Given the description of an element on the screen output the (x, y) to click on. 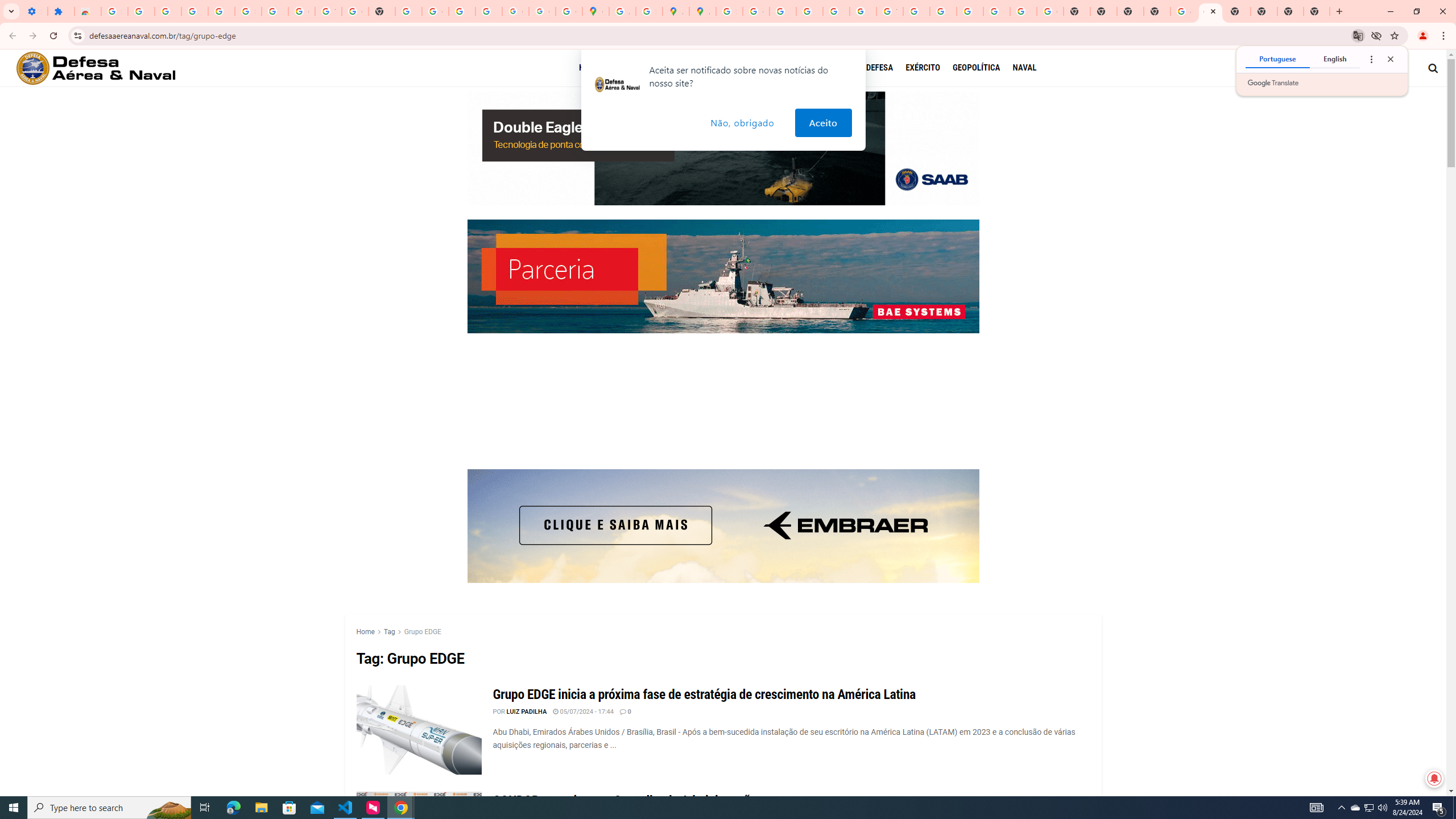
YouTube (328, 11)
ARTIGOS (634, 67)
Aceito (822, 122)
Safety in Our Products - Google Safety Center (649, 11)
AutomationID: menu-item-103875 (731, 67)
slide-105151 (723, 148)
AutomationID: menu-item-105105 (885, 67)
AutomationID: menu-item-105101 (982, 67)
